Given the description of an element on the screen output the (x, y) to click on. 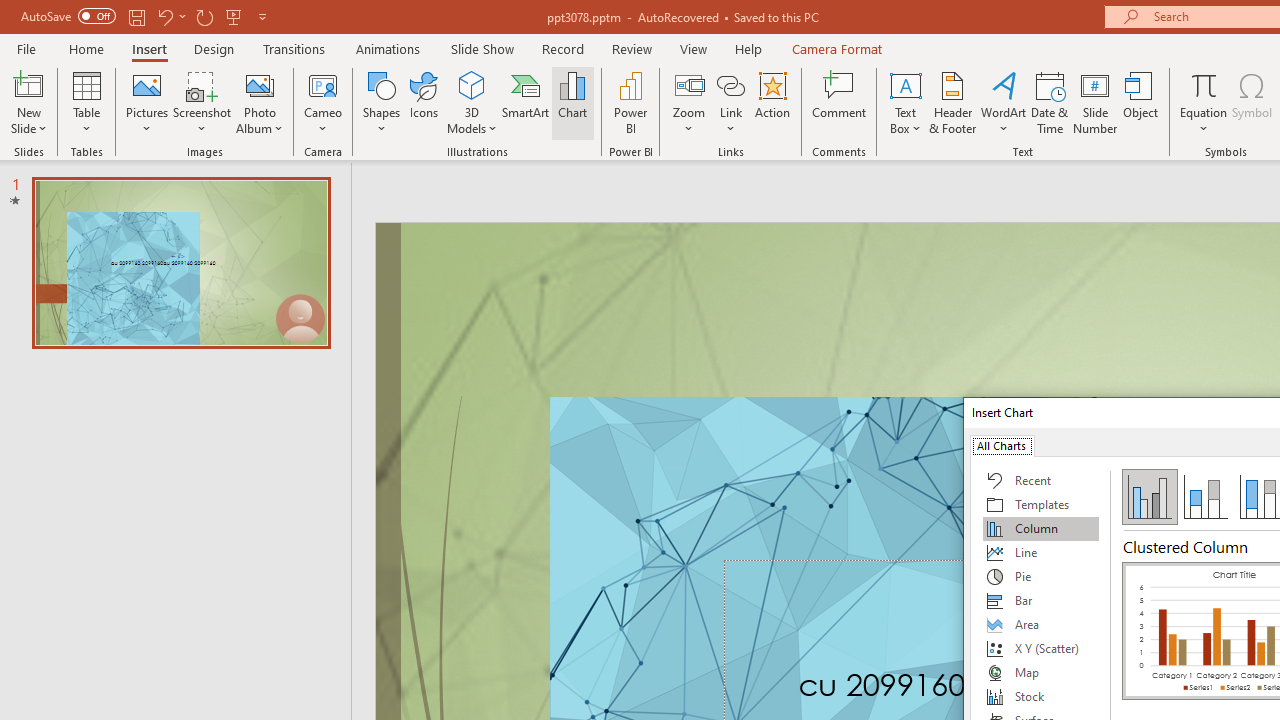
Link (731, 102)
Chart... (572, 102)
Link (731, 84)
3D Models (472, 102)
